Given the description of an element on the screen output the (x, y) to click on. 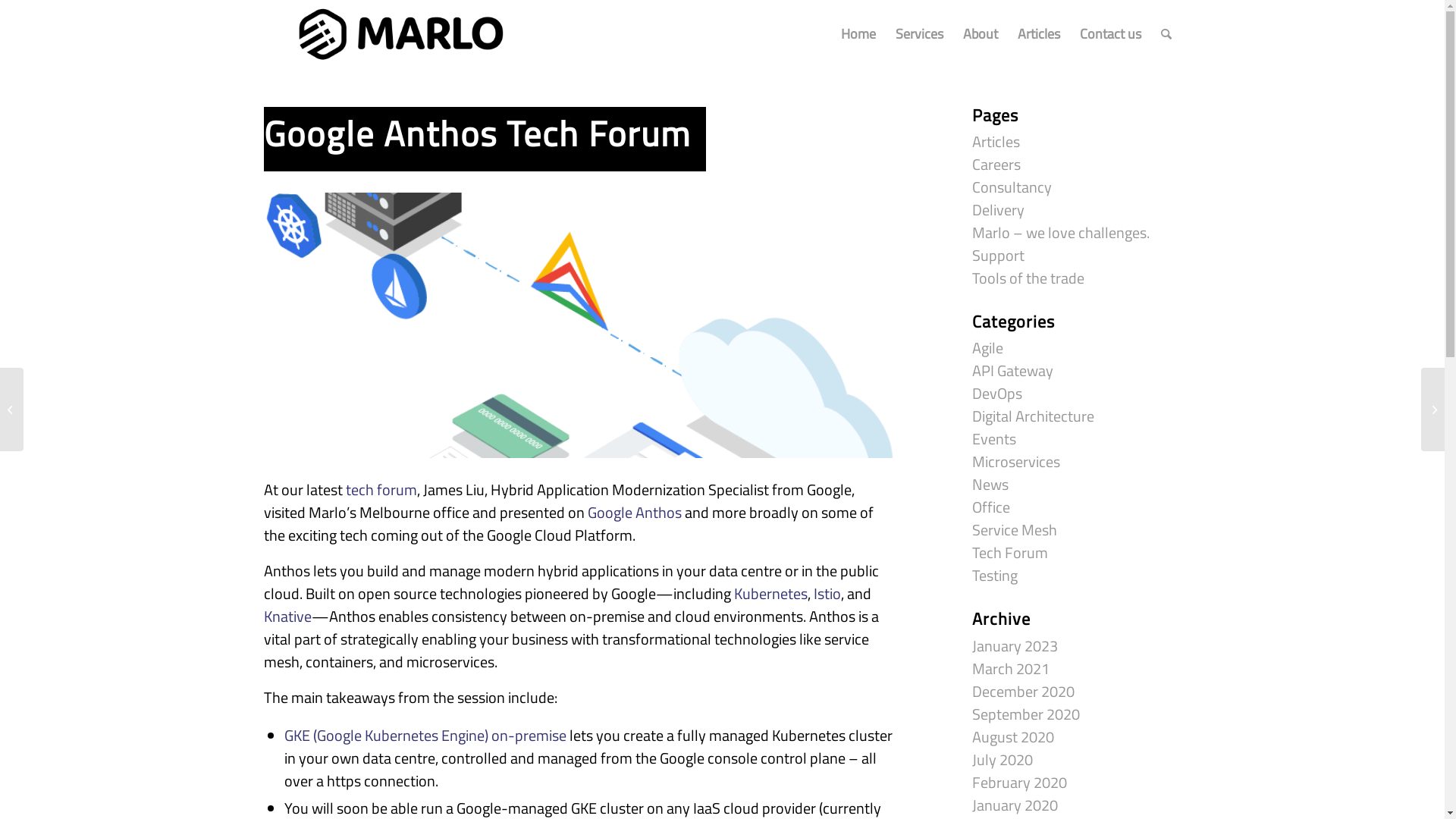
Microservices Element type: text (1016, 461)
tech forum Element type: text (381, 489)
API Gateway Element type: text (1012, 370)
Events Element type: text (994, 438)
Delivery Element type: text (998, 209)
Tech Forum Element type: text (1010, 552)
Google Anthos Element type: text (633, 512)
News Element type: text (990, 483)
January 2023 Element type: text (1014, 645)
Support Element type: text (998, 254)
Tools of the trade Element type: text (1028, 277)
Kubernetes Element type: text (770, 593)
About Element type: text (979, 34)
July 2020 Element type: text (1002, 759)
Home Element type: text (858, 34)
January 2020 Element type: text (1014, 804)
Services Element type: text (919, 34)
September 2020 Element type: text (1025, 713)
Agile Element type: text (987, 347)
December 2020 Element type: text (1023, 690)
Articles Element type: text (995, 141)
March 2021 Element type: text (1010, 668)
Office Element type: text (991, 506)
Service Mesh Element type: text (1014, 529)
Contact us Element type: text (1109, 34)
DevOps Element type: text (997, 392)
Istio Element type: text (826, 593)
anthos Element type: hover (579, 325)
Articles Element type: text (1038, 34)
Testing Element type: text (994, 574)
August 2020 Element type: text (1013, 736)
Digital Architecture Element type: text (1033, 415)
February 2020 Element type: text (1019, 781)
Knative Element type: text (287, 615)
Consultancy Element type: text (1011, 186)
GKE (Google Kubernetes Engine) on-premise Element type: text (424, 734)
Careers Element type: text (996, 163)
